Given the description of an element on the screen output the (x, y) to click on. 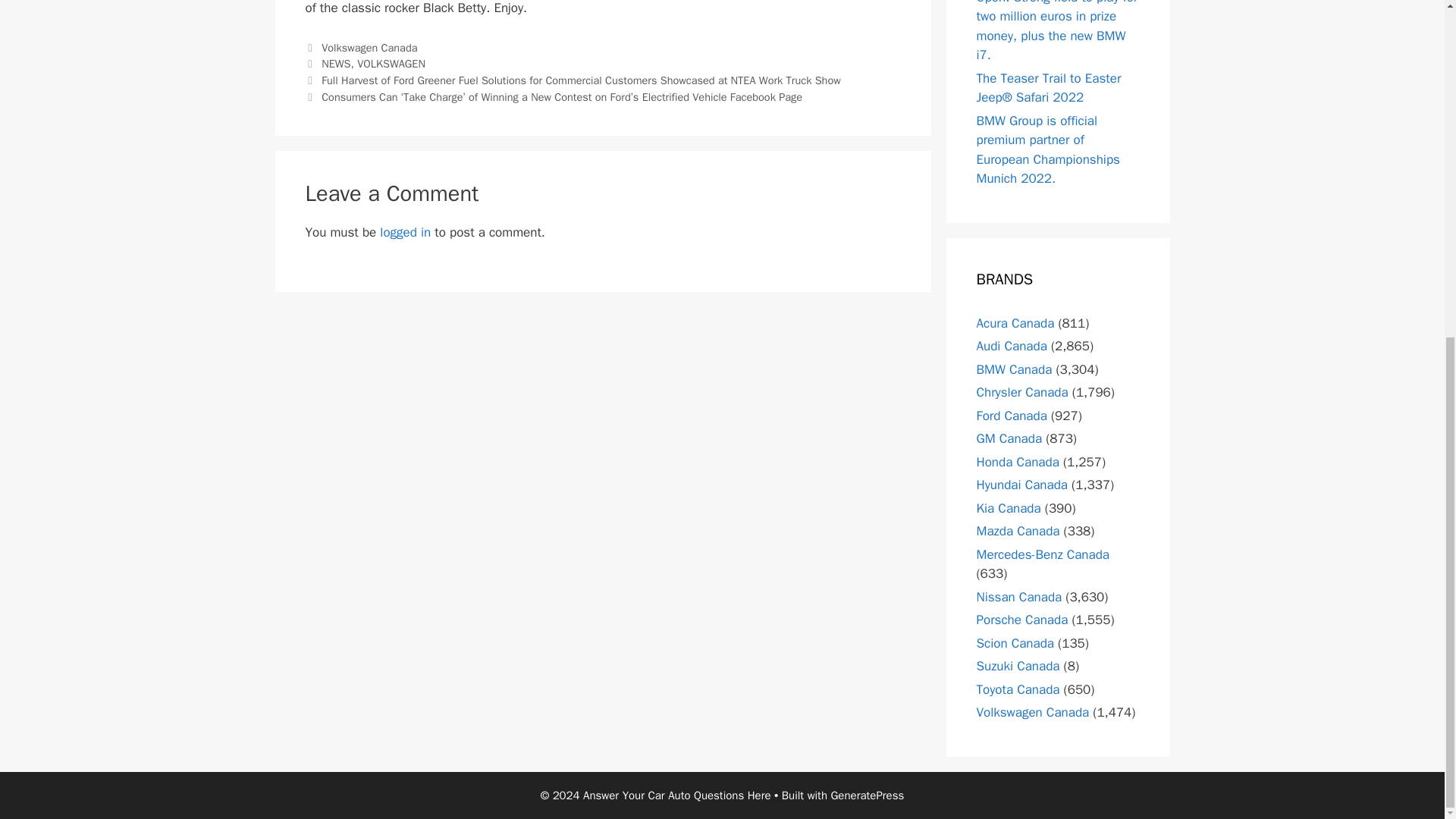
Toyota Canada (1017, 689)
Scion Canada (1015, 643)
Kia Canada (1008, 508)
logged in (405, 232)
Ford Canada (1011, 415)
Honda Canada (1017, 462)
Suzuki Canada (1017, 666)
Acura Canada (1015, 323)
GeneratePress (866, 795)
VOLKSWAGEN (390, 63)
